Given the description of an element on the screen output the (x, y) to click on. 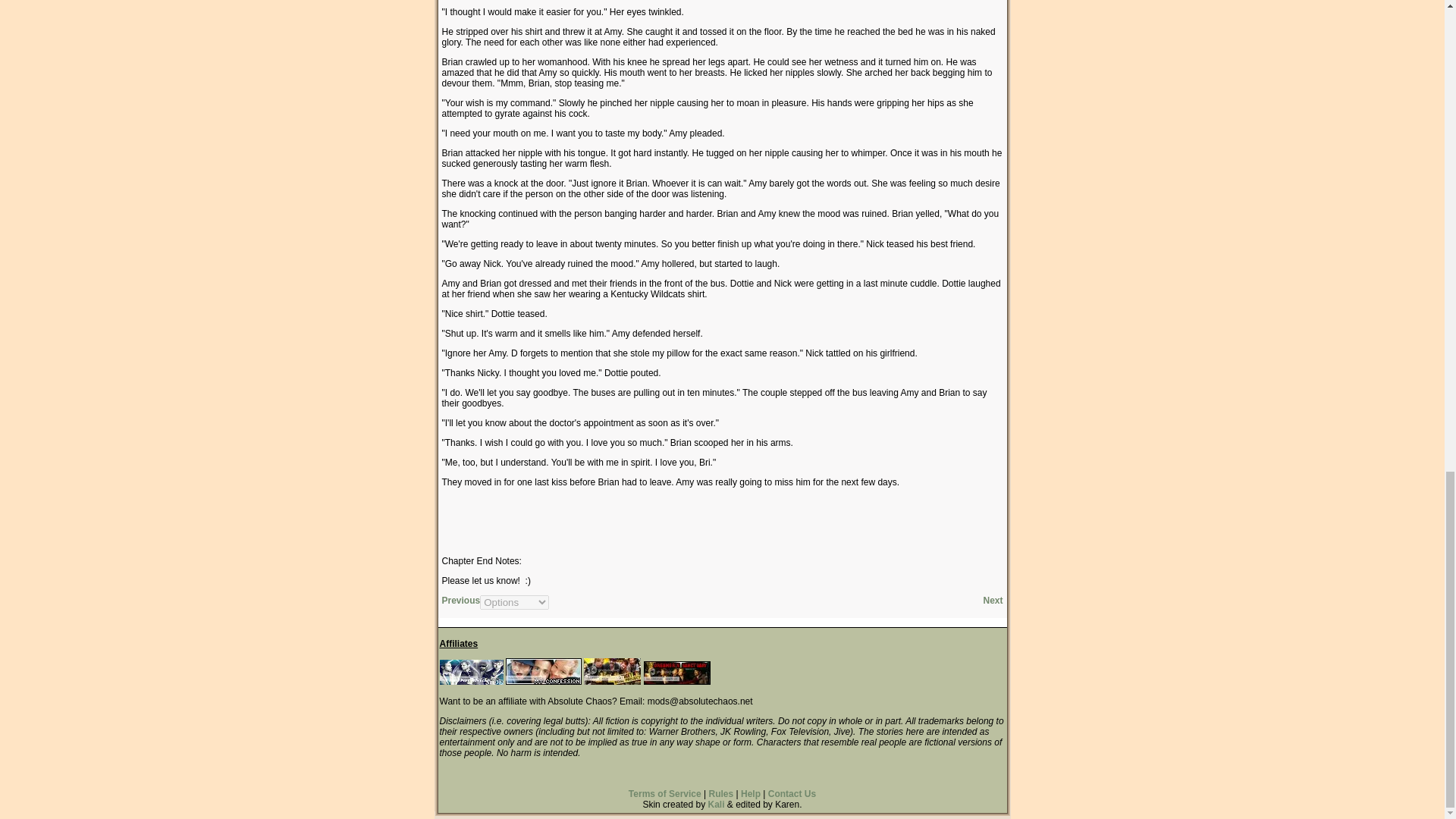
Help (750, 793)
My Confession (542, 671)
Contact Us (791, 793)
Backstreet Noise Project (611, 681)
The Dark Side (471, 672)
Dreamer's Sanctuary (676, 672)
My Confession (542, 681)
Backstreet Noise Project (611, 671)
Terms of Service (664, 793)
Previous (460, 600)
Kali (715, 804)
The Dark Side (471, 681)
Rules (720, 793)
Next (992, 600)
Dreamer's Sanctuary (676, 681)
